Given the description of an element on the screen output the (x, y) to click on. 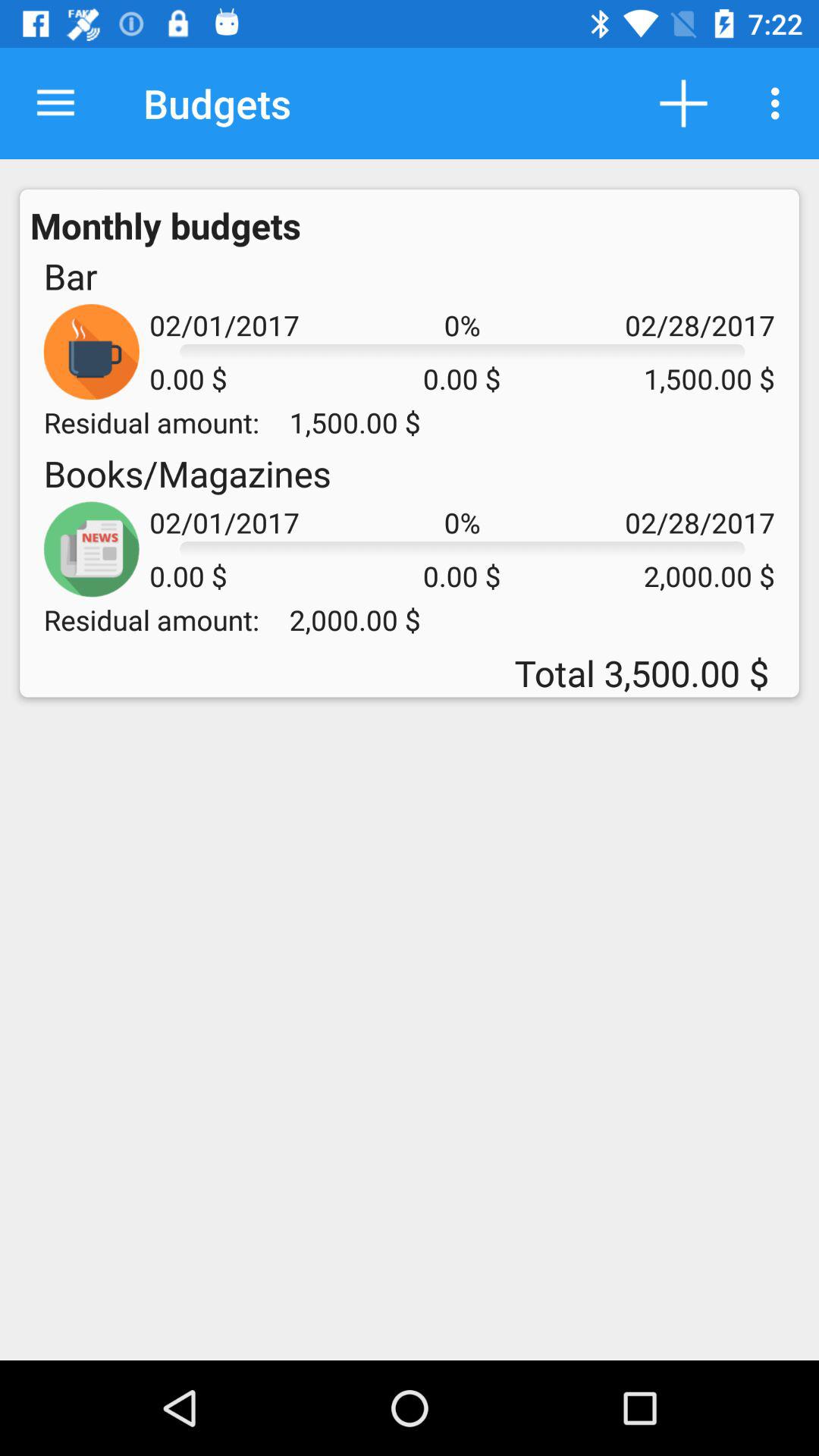
turn on item above the bar icon (165, 225)
